Given the description of an element on the screen output the (x, y) to click on. 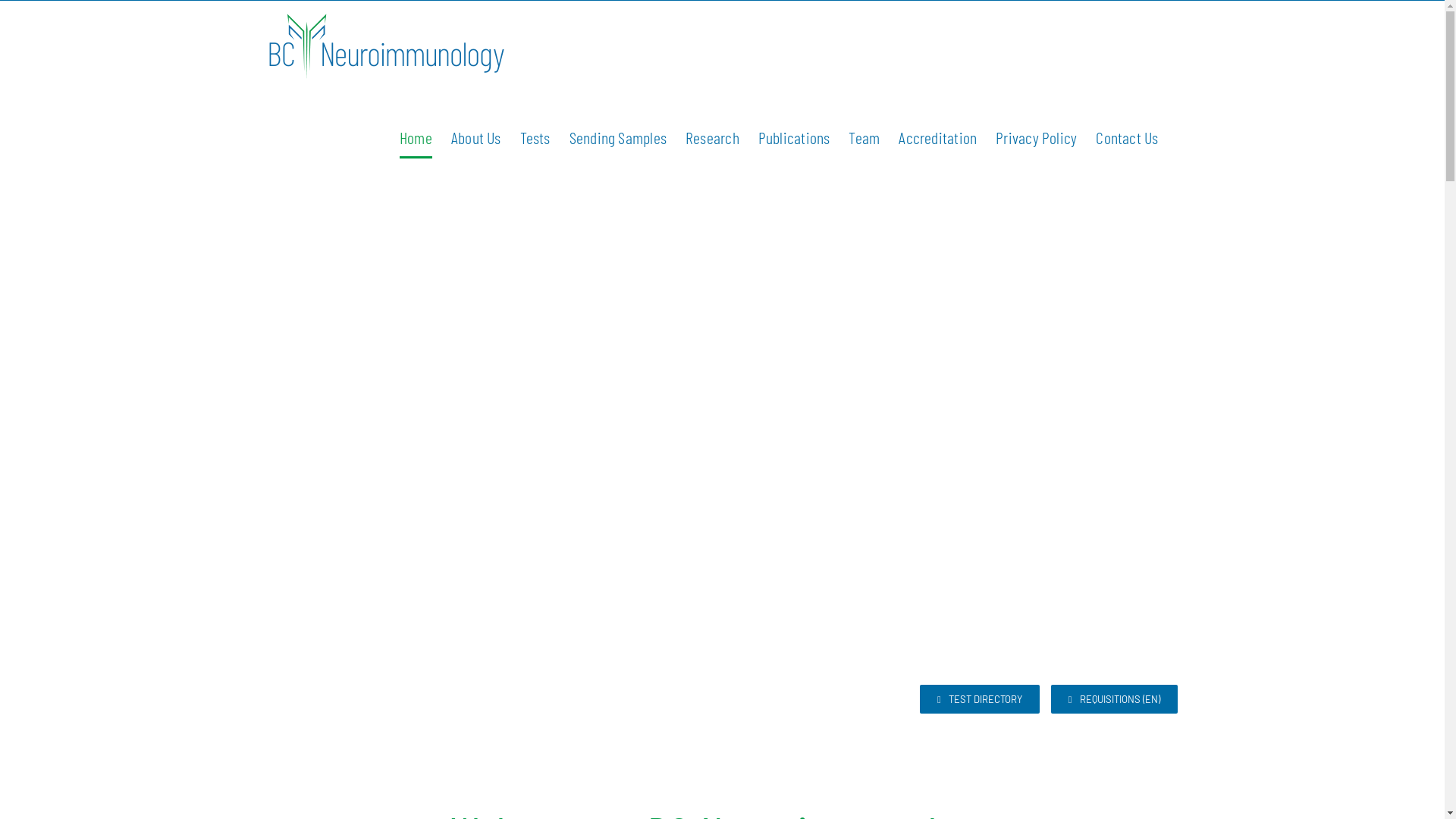
About Us Element type: text (476, 136)
Publications Element type: text (794, 136)
Sending Samples Element type: text (617, 136)
Team Element type: text (863, 136)
Privacy Policy Element type: text (1035, 136)
REQUISITIONS (EN) Element type: text (1114, 698)
Home Element type: text (415, 136)
Accreditation Element type: text (937, 136)
Contact Us Element type: text (1126, 136)
TEST DIRECTORY Element type: text (979, 698)
Tests Element type: text (535, 136)
Research Element type: text (712, 136)
